Given the description of an element on the screen output the (x, y) to click on. 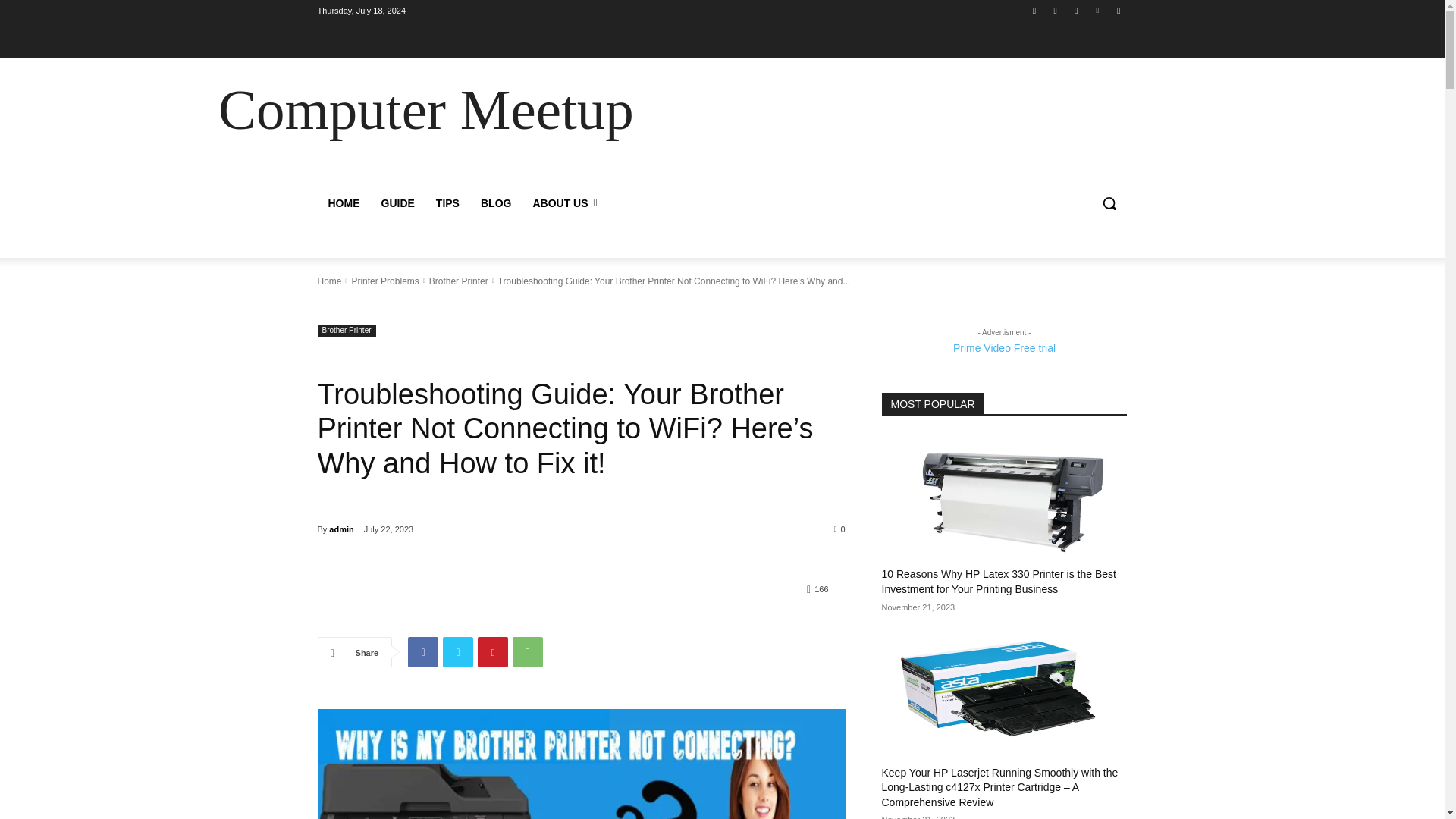
Facebook (1034, 9)
Brother Printer (346, 330)
ABOUT US (564, 203)
Youtube (1117, 9)
Twitter (1075, 9)
Instagram (1055, 9)
BLOG (495, 203)
TIPS (447, 203)
Printer Problems (384, 281)
Computer Meetup (425, 109)
HOME (343, 203)
View all posts in Printer Problems (384, 281)
Vimeo (1097, 9)
